Given the description of an element on the screen output the (x, y) to click on. 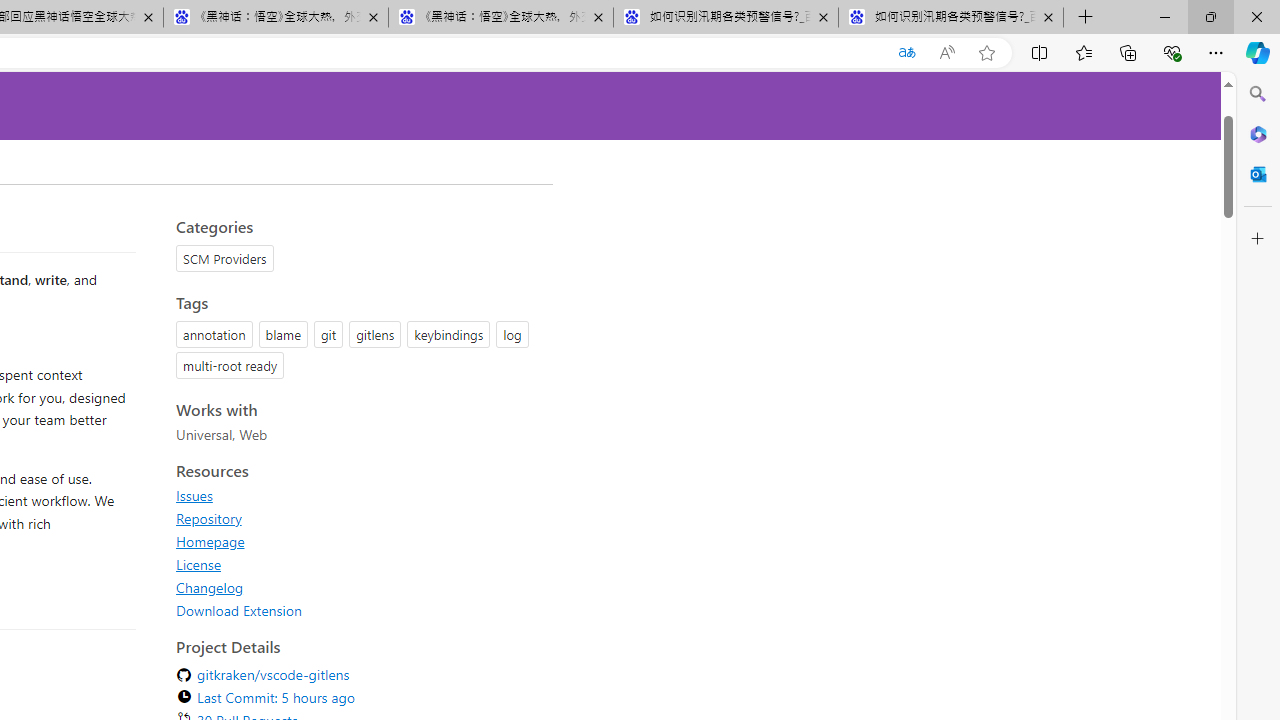
Translated (906, 53)
Repository (358, 518)
Changelog (210, 587)
Issues (194, 495)
Changelog (358, 587)
Issues (358, 495)
Download Extension (239, 610)
